Given the description of an element on the screen output the (x, y) to click on. 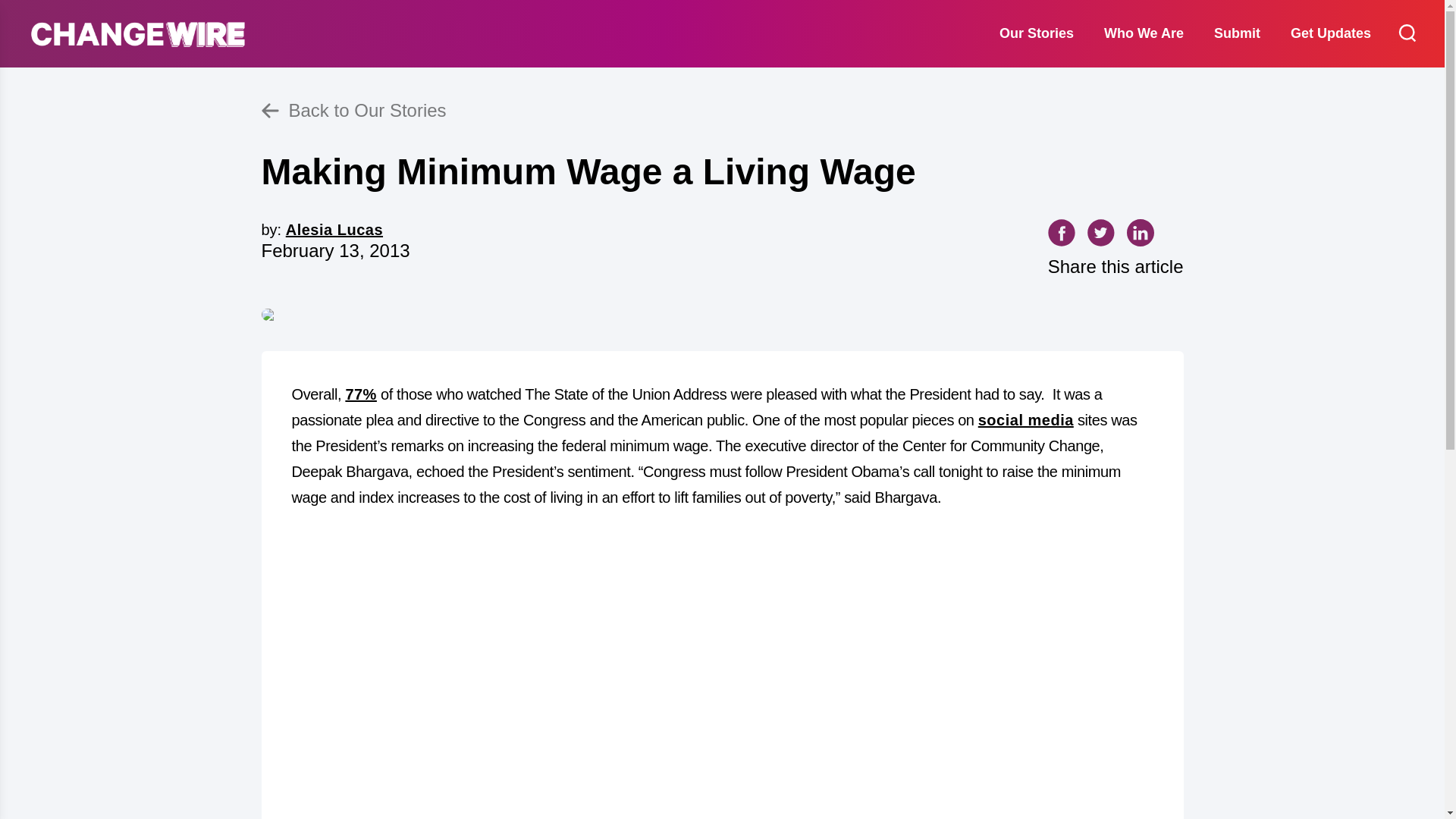
Get Updates (1330, 32)
Who We Are (1143, 32)
social media (1026, 419)
Alesia Lucas (333, 229)
Our Stories (1036, 32)
Back to Our Stories (721, 111)
Submit (1236, 32)
